Given the description of an element on the screen output the (x, y) to click on. 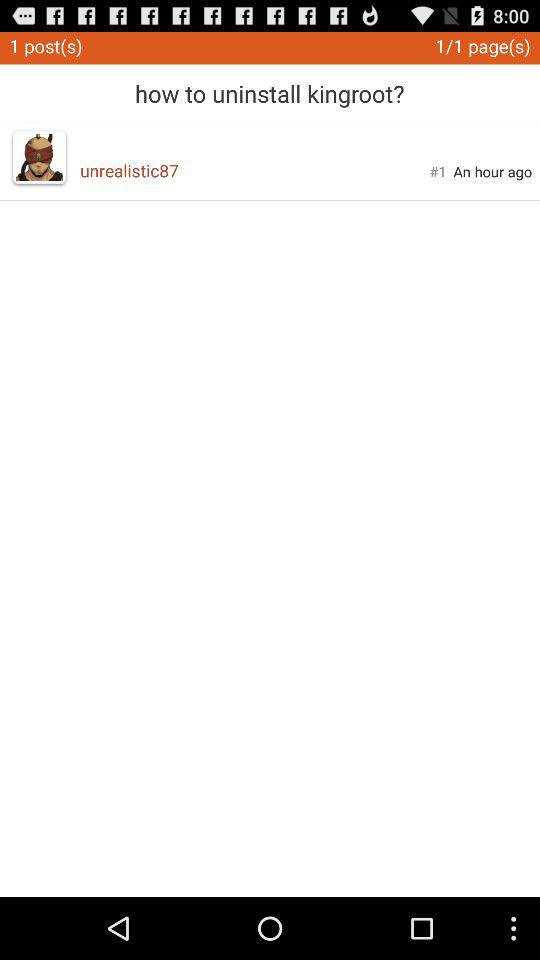
click an hour ago item (492, 171)
